Given the description of an element on the screen output the (x, y) to click on. 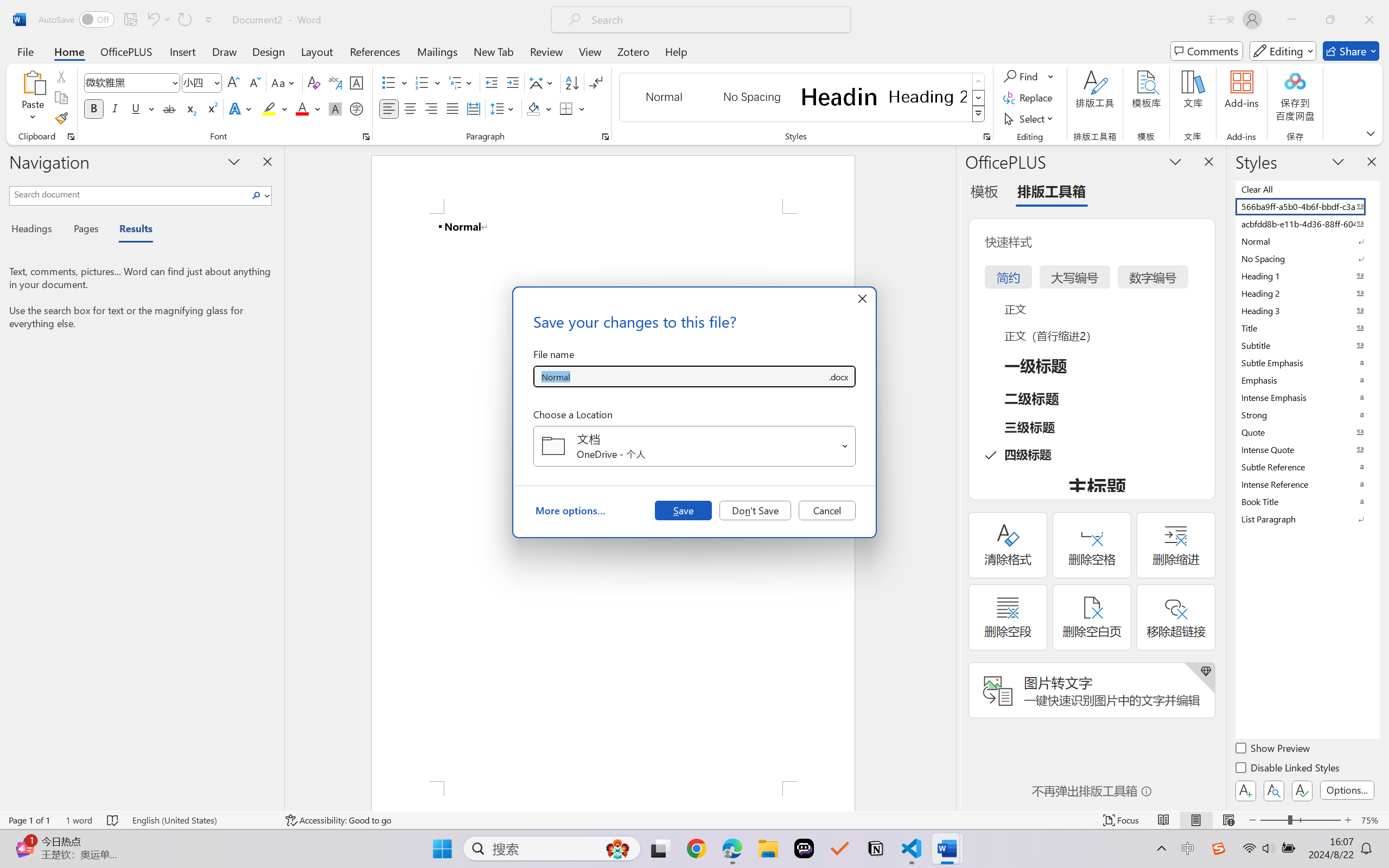
Italic (115, 108)
File Tab (24, 51)
View (589, 51)
Intense Quote (1306, 449)
Search (256, 195)
Font Color (308, 108)
Undo Text Fill Effect (158, 19)
Restore Down (1330, 19)
Design (268, 51)
Class: NetUIButton (1301, 790)
Pages (85, 229)
